Given the description of an element on the screen output the (x, y) to click on. 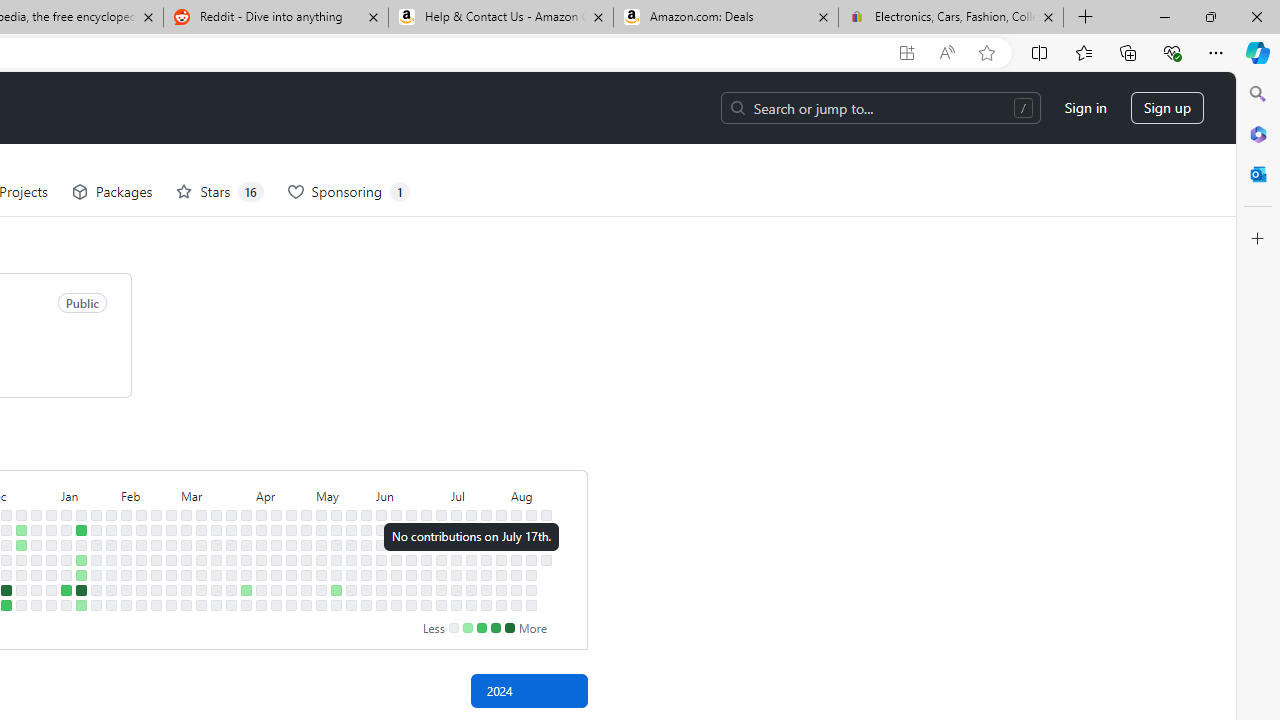
No contributions on May 20th. (351, 529)
No contributions on June 15th. (395, 605)
No contributions on July 2nd. (441, 544)
No contributions on April 18th. (276, 574)
No contributions on January 3rd. (51, 559)
No contributions on March 7th. (186, 574)
No contributions on May 23rd. (351, 574)
4 contributions on January 19th. (81, 589)
No contributions on August 14th. (531, 559)
No contributions on April 17th. (276, 559)
No contributions on June 12th. (395, 559)
Reddit - Dive into anything (275, 17)
No contributions on May 2nd. (306, 574)
